Given the description of an element on the screen output the (x, y) to click on. 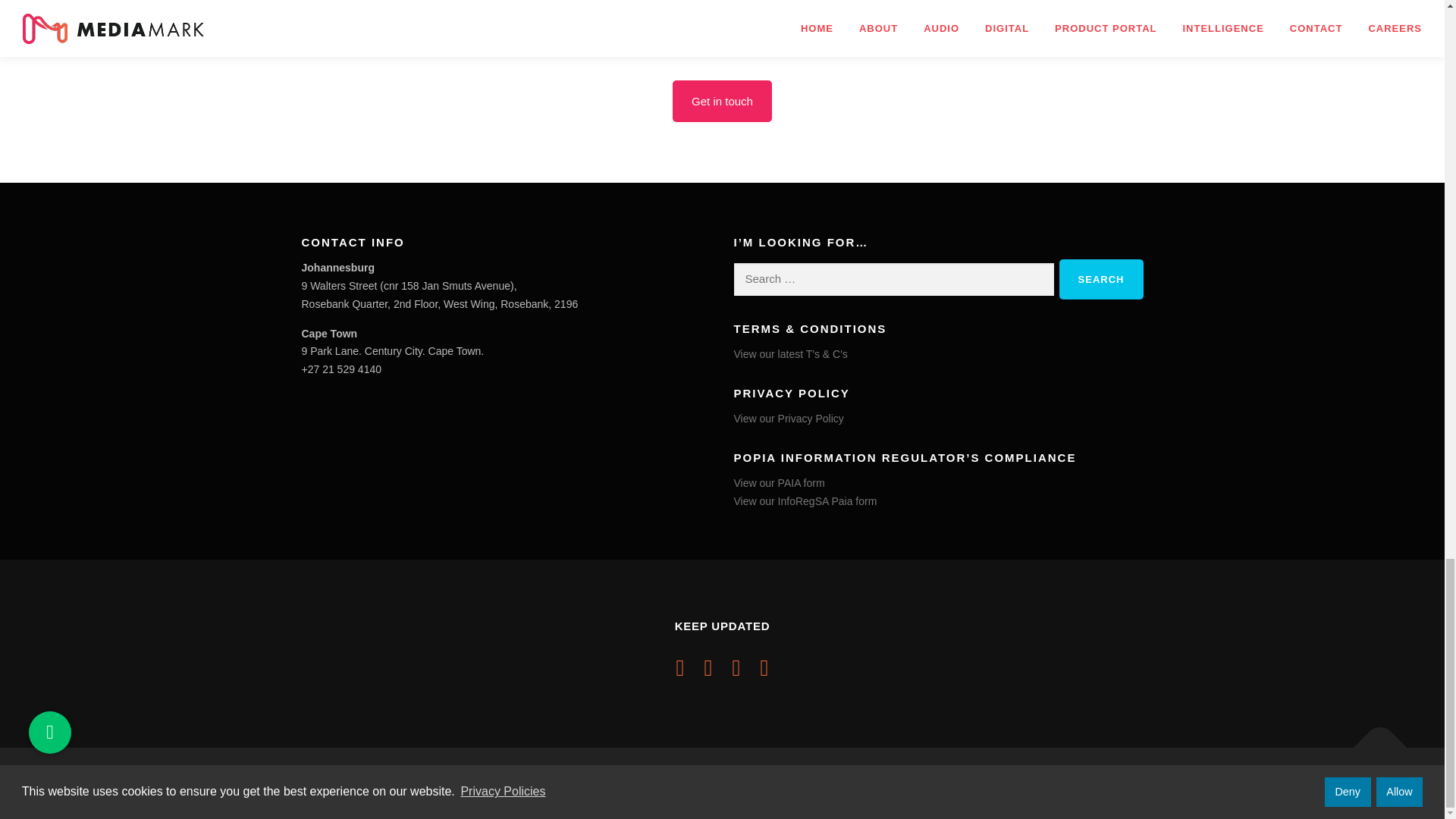
Get in touch (721, 101)
Facebook (680, 667)
View our Privacy Policy (788, 418)
Instagram (736, 667)
View our InfoRegSA Paia form (805, 500)
Back To Top (1372, 740)
Search (1100, 279)
Search for: (893, 278)
View our PAIA form (779, 482)
Search (1100, 279)
LinkedIn (764, 667)
Twitter (708, 667)
Search (1100, 279)
